Given the description of an element on the screen output the (x, y) to click on. 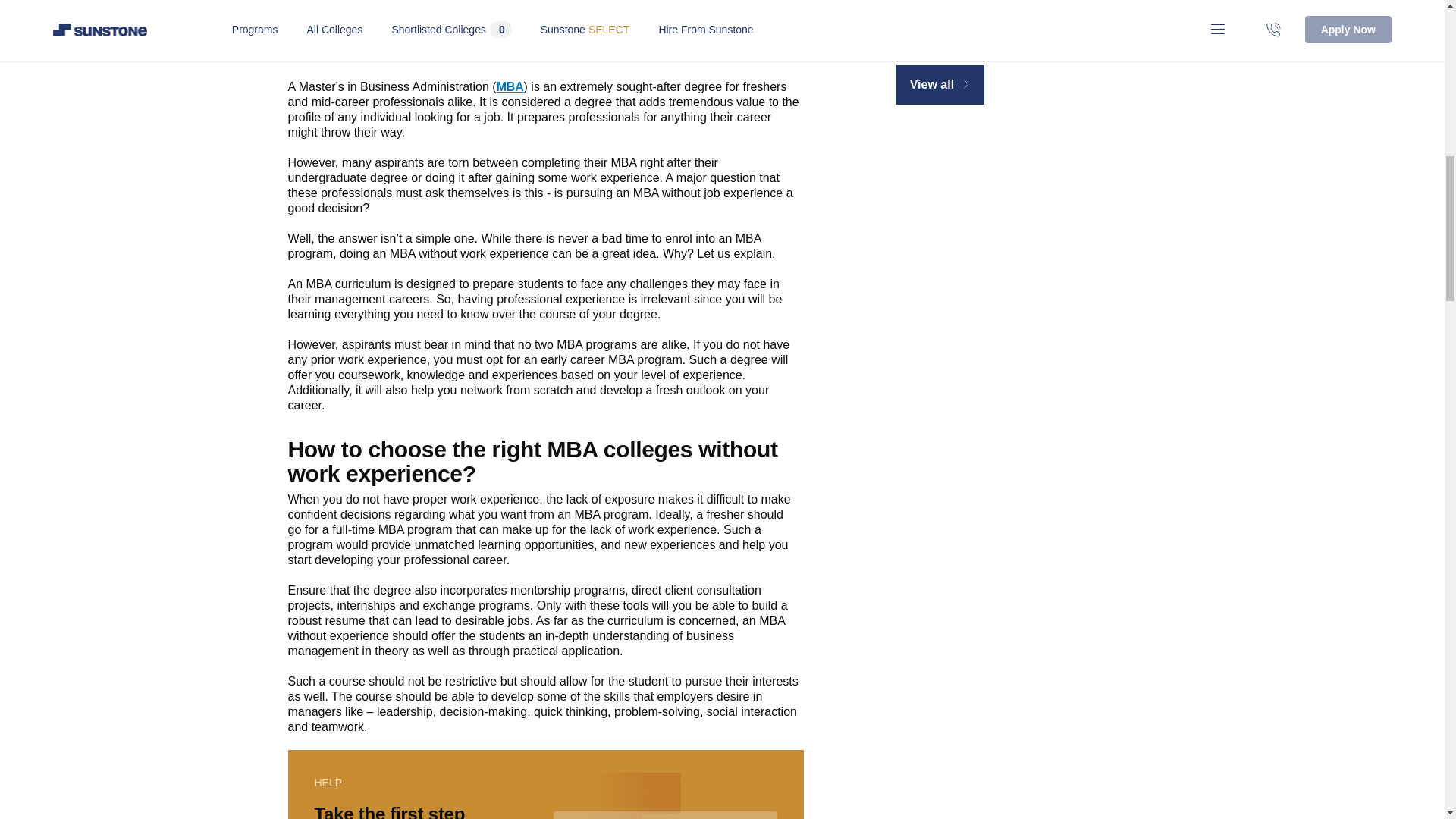
MBA (510, 85)
Request A Call Back (665, 815)
View all (940, 84)
View all (946, 69)
Generate OTP (369, 18)
